Given the description of an element on the screen output the (x, y) to click on. 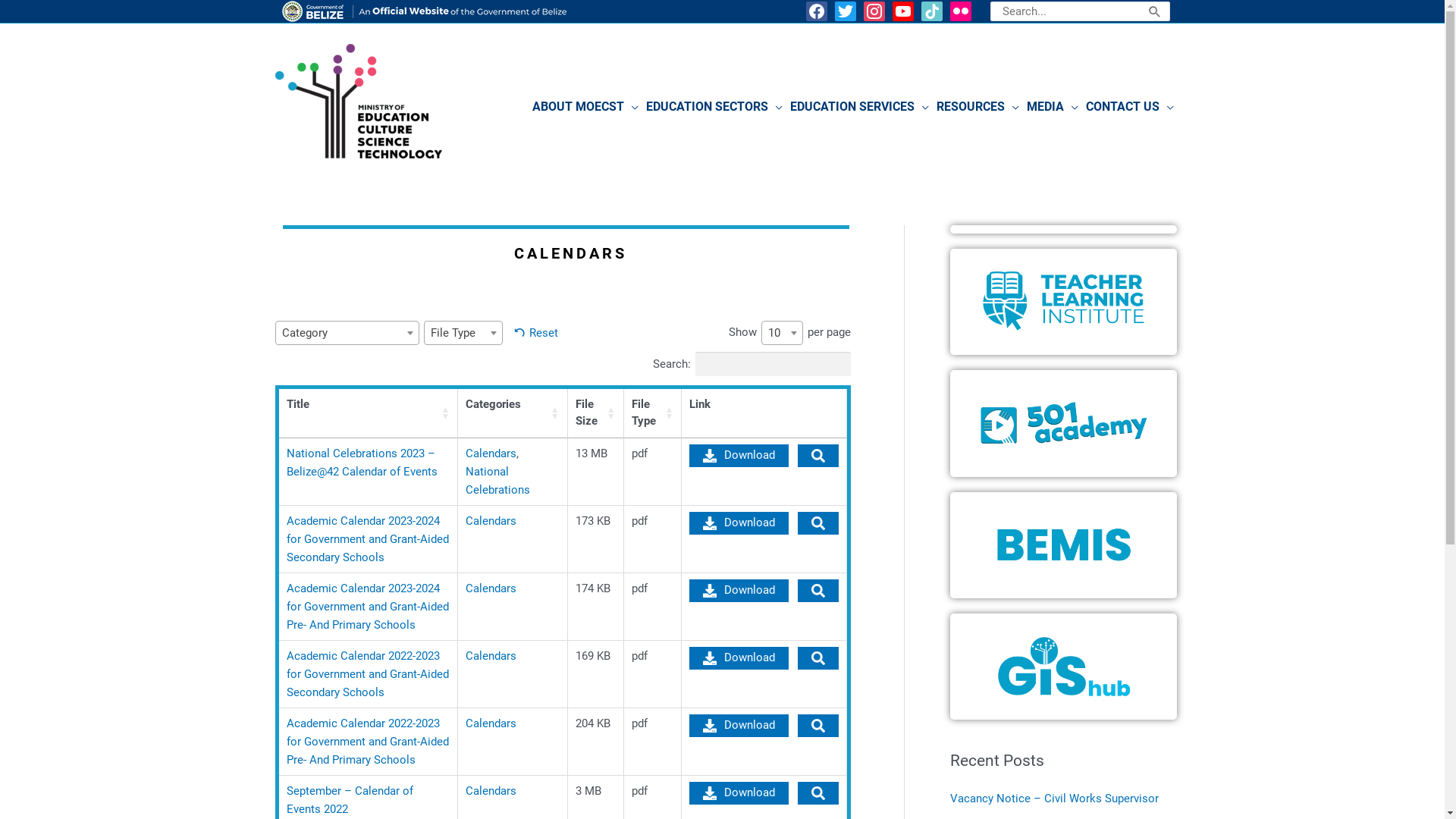
Calendars Element type: text (490, 520)
ABOUT MOECST Element type: text (584, 106)
Instagram Element type: hover (873, 11)
Youtube Element type: hover (902, 11)
Calendars Element type: text (490, 722)
Reset Element type: text (535, 332)
Download Element type: text (738, 792)
CONTACT US Element type: text (1128, 106)
Twitter Element type: hover (845, 11)
EDUCATION SECTORS Element type: text (713, 106)
Download Element type: text (738, 522)
Facebook Element type: hover (816, 11)
Calendars Element type: text (490, 655)
Calendars Element type: text (490, 587)
Calendars Element type: text (490, 452)
EDUCATION SERVICES Element type: text (858, 106)
Tiktok Element type: hover (931, 11)
Download Element type: text (738, 657)
MEDIA Element type: text (1051, 106)
Flickr Element type: hover (960, 11)
Download Element type: text (738, 590)
Download Element type: text (738, 725)
Download Element type: text (738, 455)
RESOURCES Element type: text (977, 106)
Calendars Element type: text (490, 790)
National Celebrations Element type: text (497, 479)
Search Element type: text (1154, 11)
